Given the description of an element on the screen output the (x, y) to click on. 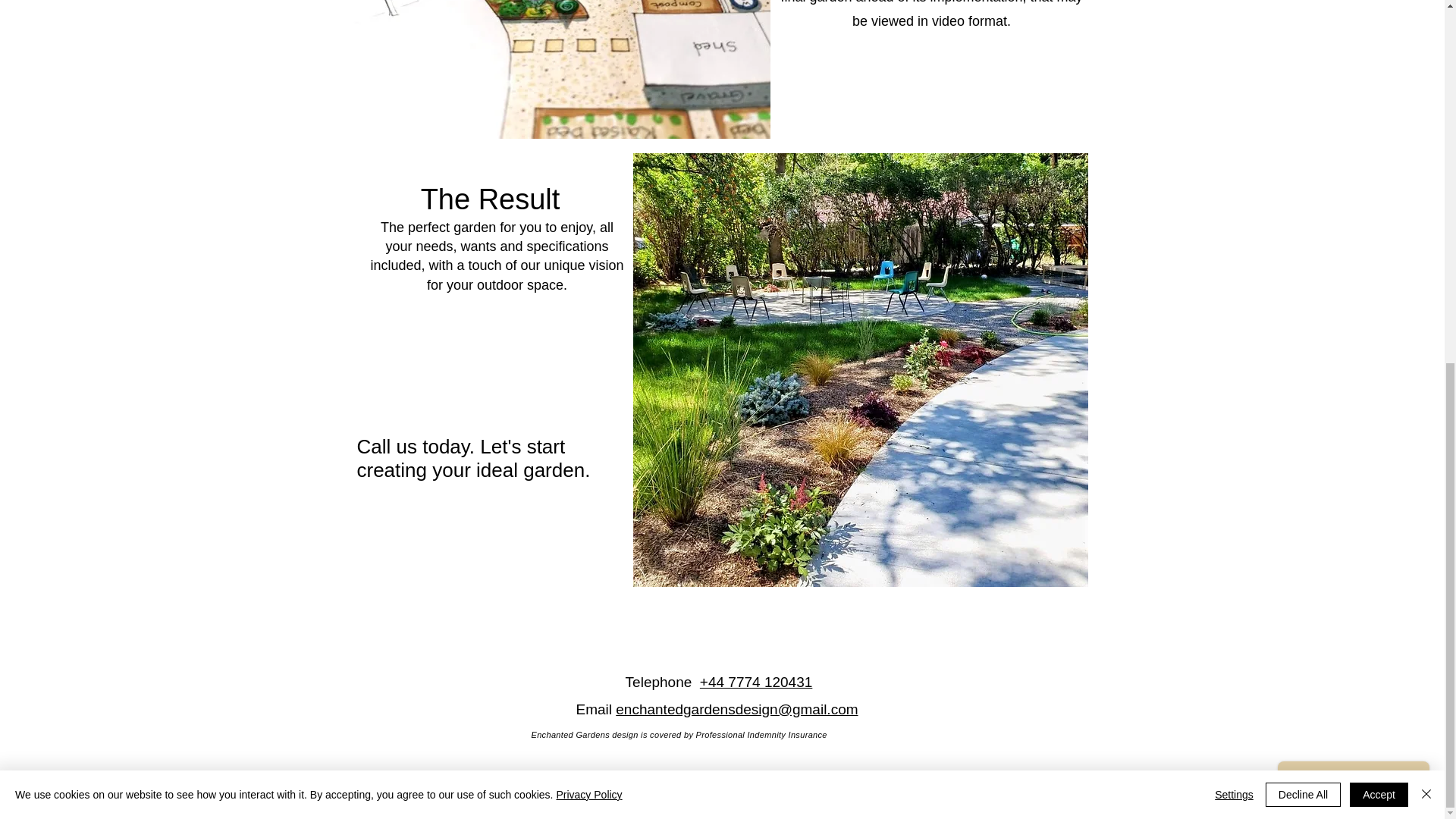
Privacy Policy (588, 146)
Decline All (1302, 146)
Accept (1378, 146)
